Given the description of an element on the screen output the (x, y) to click on. 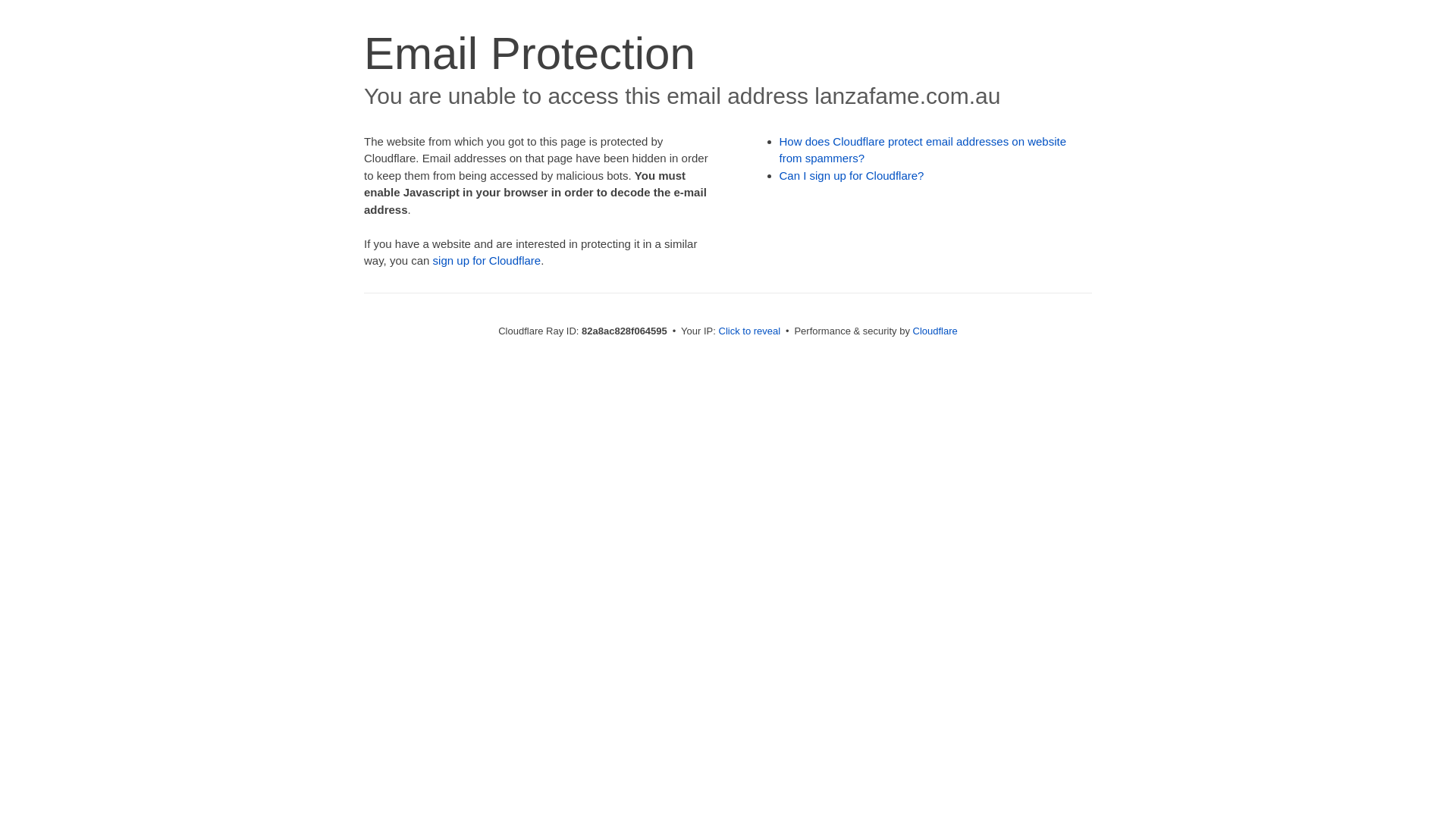
Cloudflare Element type: text (935, 330)
Can I sign up for Cloudflare? Element type: text (851, 175)
sign up for Cloudflare Element type: text (487, 260)
Click to reveal Element type: text (749, 330)
